Given the description of an element on the screen output the (x, y) to click on. 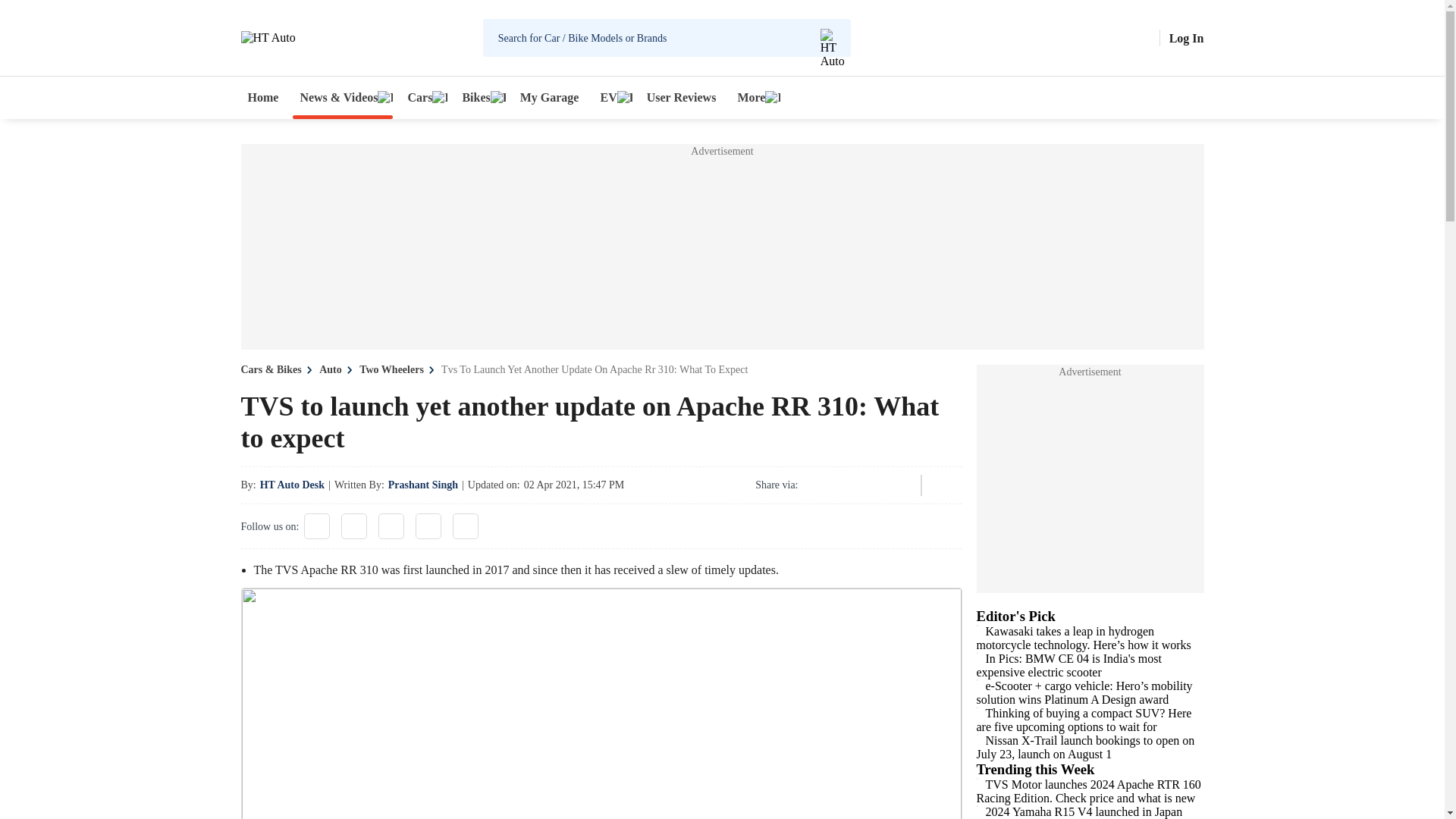
Home (263, 97)
Bikes (479, 97)
Log In (1186, 37)
My Garage (549, 97)
Facebook Share (816, 484)
EV (611, 97)
Tweet (857, 484)
Cars (423, 97)
